Given the description of an element on the screen output the (x, y) to click on. 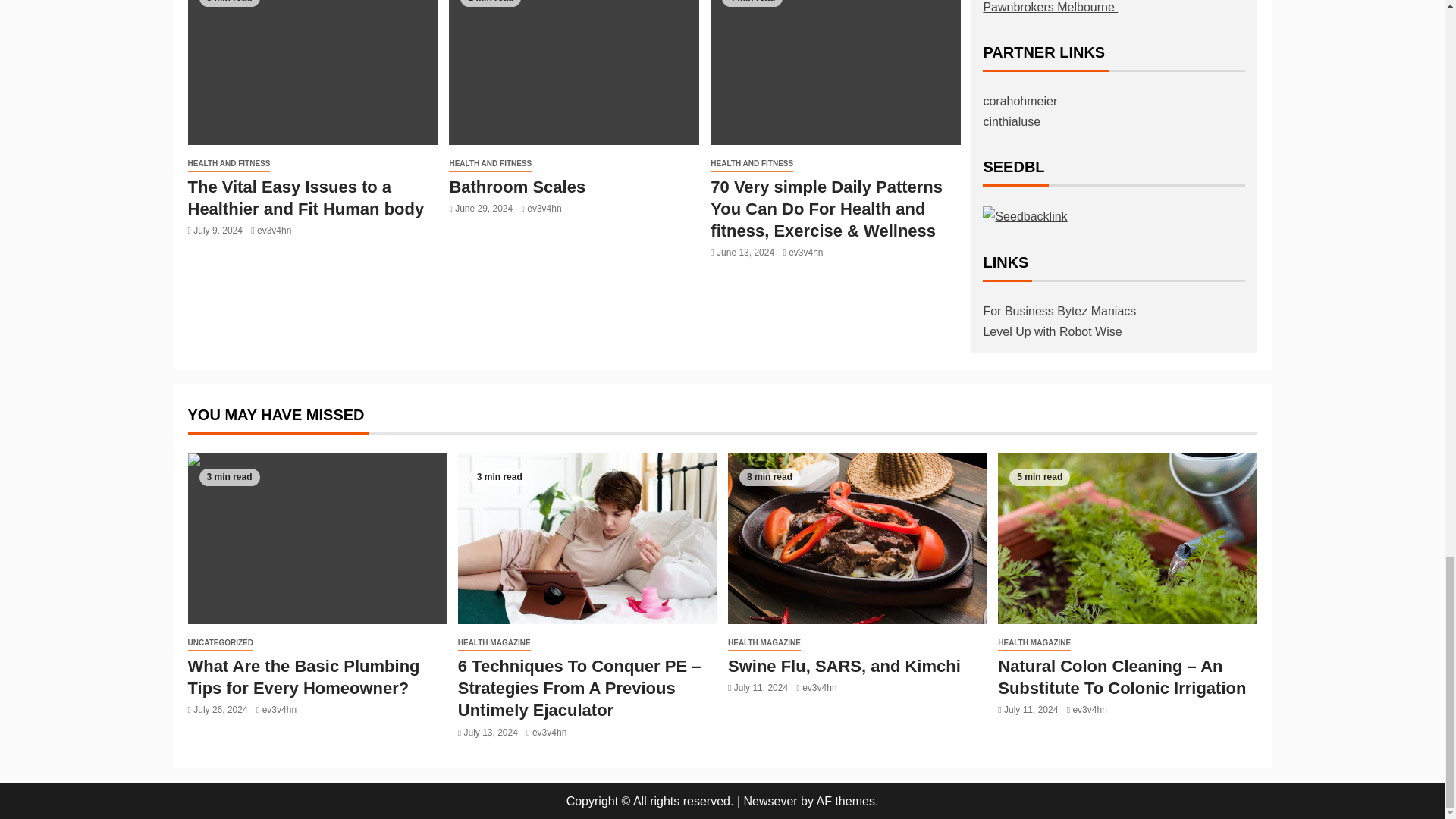
The Vital Easy Issues to a Healthier and Fit Human body (306, 197)
Seedbacklink (1024, 216)
Swine Flu, SARS, and Kimchi (857, 538)
HEALTH AND FITNESS (489, 163)
The Vital Easy Issues to a Healthier and Fit Human body (312, 72)
Bathroom Scales (516, 186)
ev3v4hn (274, 230)
HEALTH AND FITNESS (228, 163)
What Are the Basic Plumbing Tips for Every Homeowner? (316, 538)
